Given the description of an element on the screen output the (x, y) to click on. 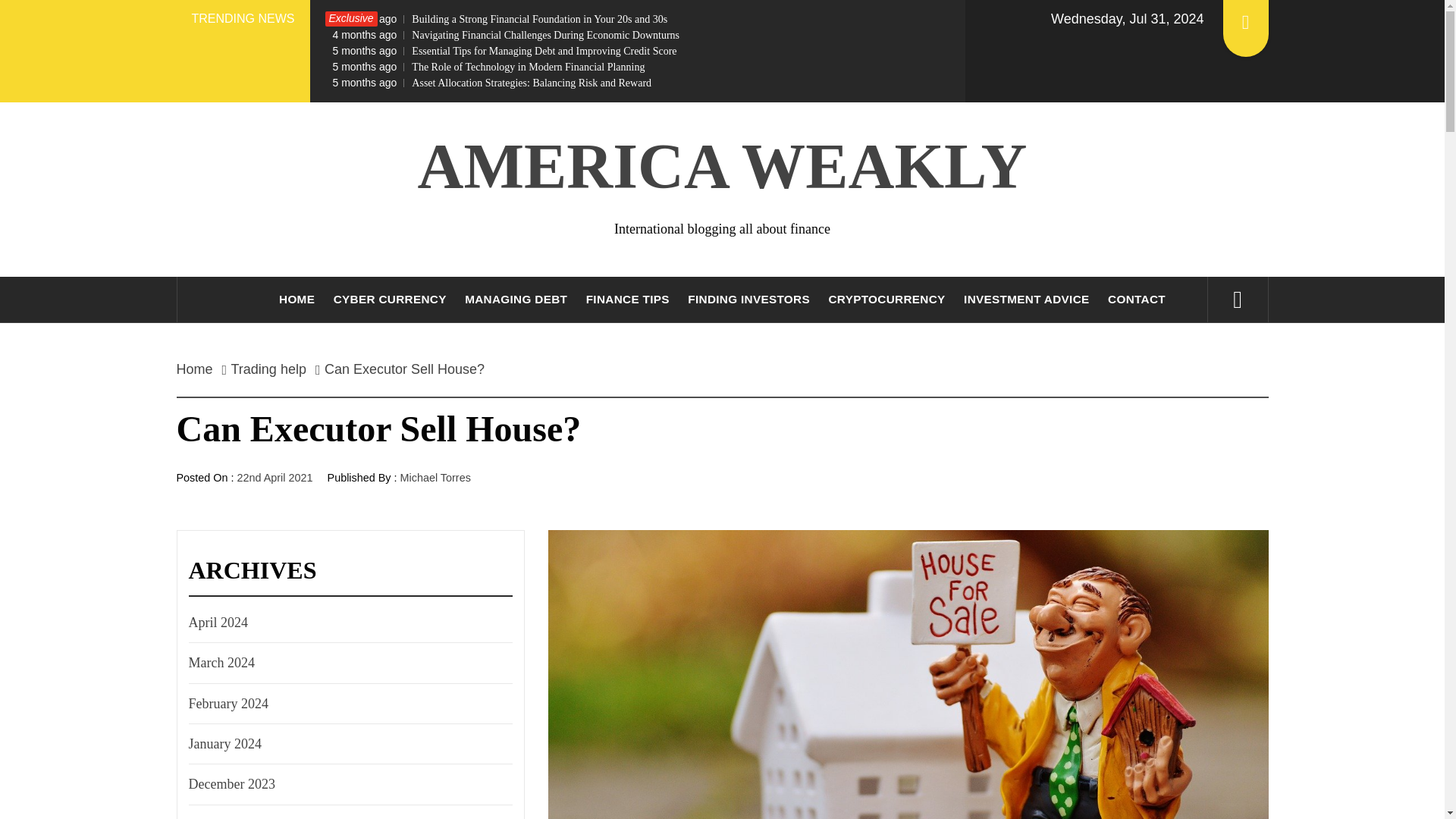
Search (797, 37)
CYBER CURRENCY (390, 299)
MANAGING DEBT (516, 299)
HOME (295, 299)
22nd April 2021 (274, 477)
Can Executor Sell House? (404, 368)
CONTACT (1136, 299)
AMERICA WEAKLY (722, 166)
Home (198, 368)
CRYPTOCURRENCY (886, 299)
